Given the description of an element on the screen output the (x, y) to click on. 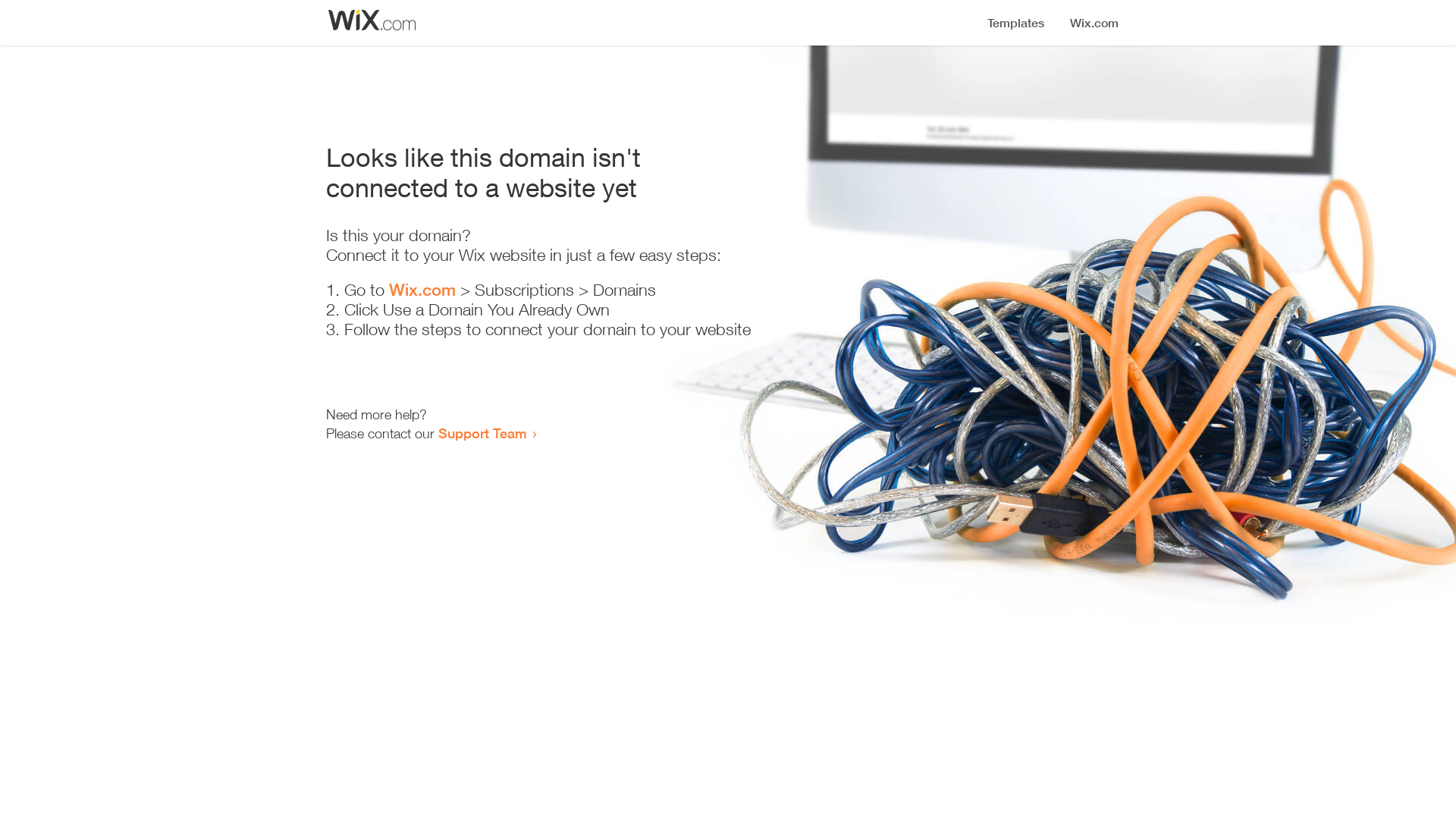
Wix.com Element type: text (422, 289)
Support Team Element type: text (482, 432)
